Given the description of an element on the screen output the (x, y) to click on. 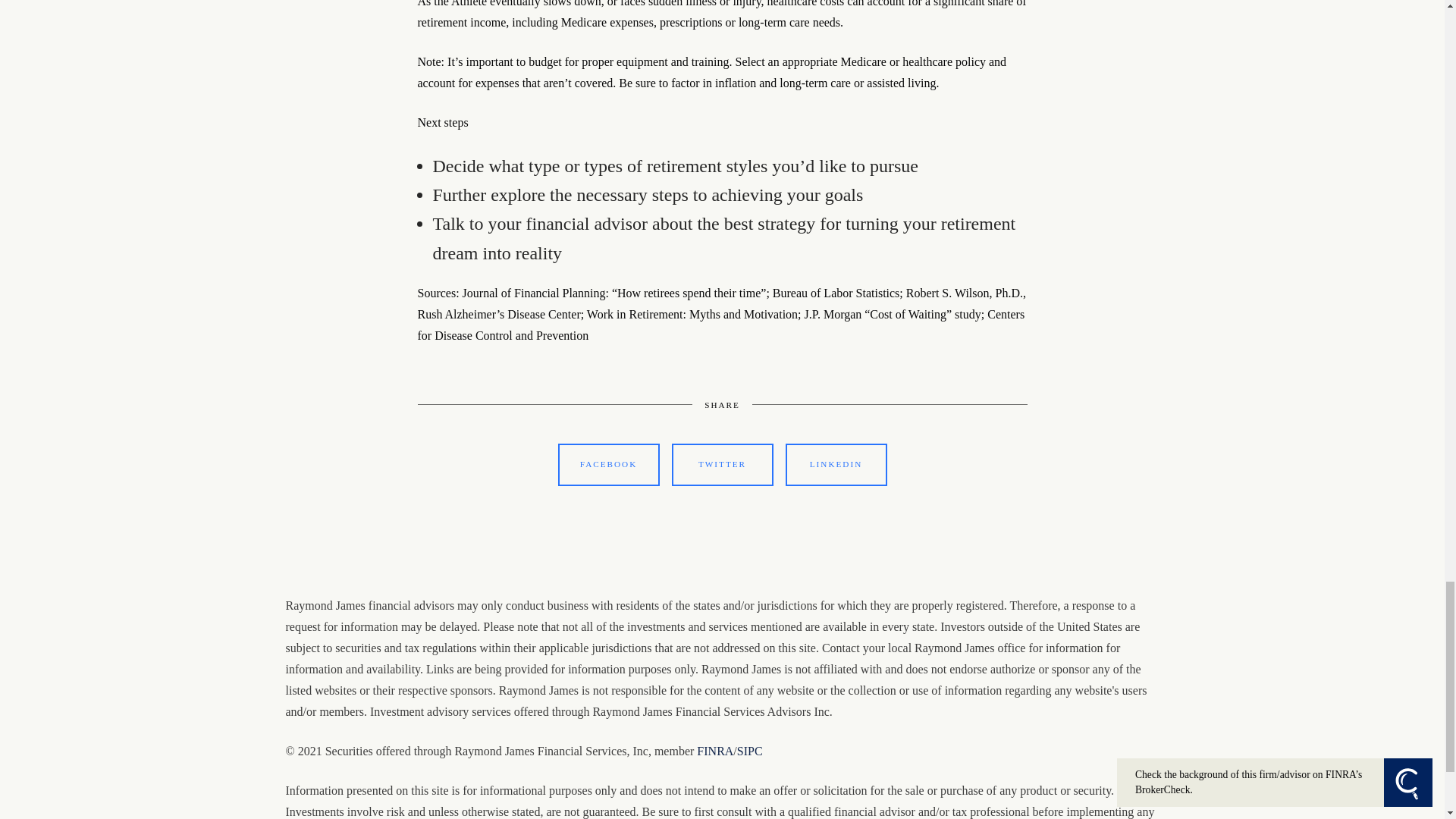
FINRA (715, 750)
FACEBOOK (608, 464)
TWITTER (722, 464)
SIPC (749, 750)
LINKEDIN (836, 464)
